Given the description of an element on the screen output the (x, y) to click on. 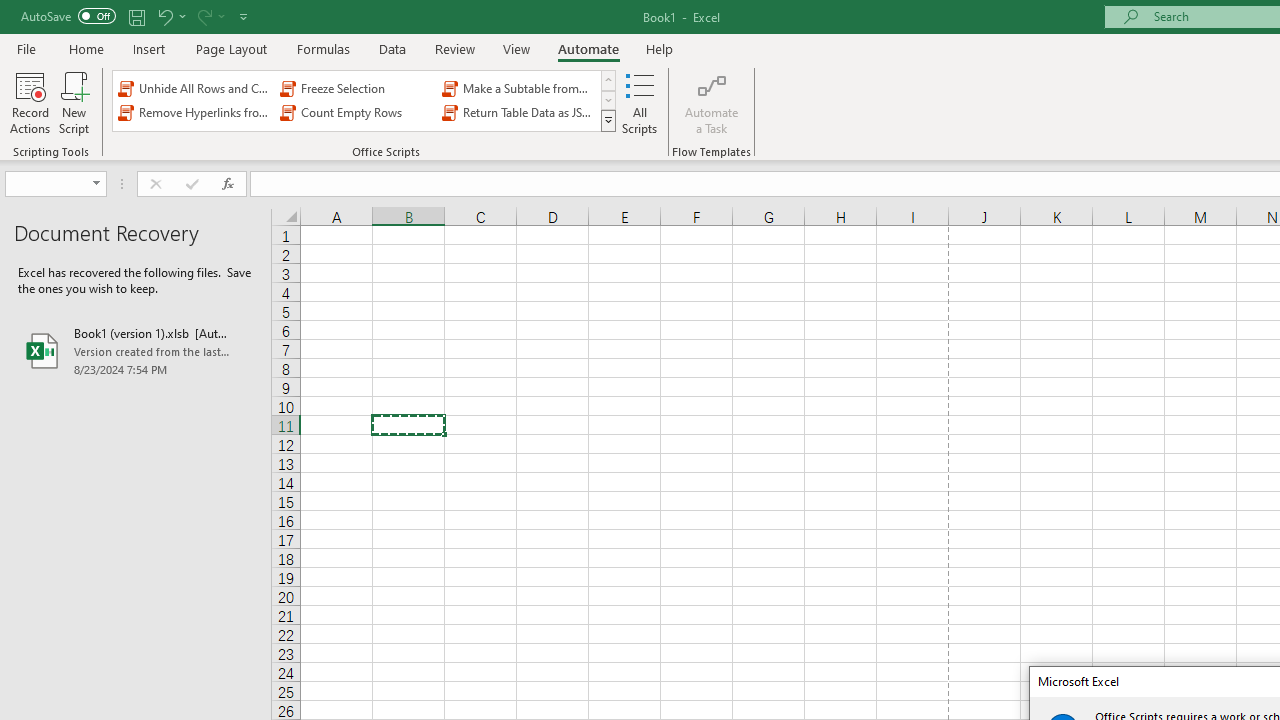
New Script (73, 102)
Unhide All Rows and Columns (194, 88)
Freeze Selection (356, 88)
